Given the description of an element on the screen output the (x, y) to click on. 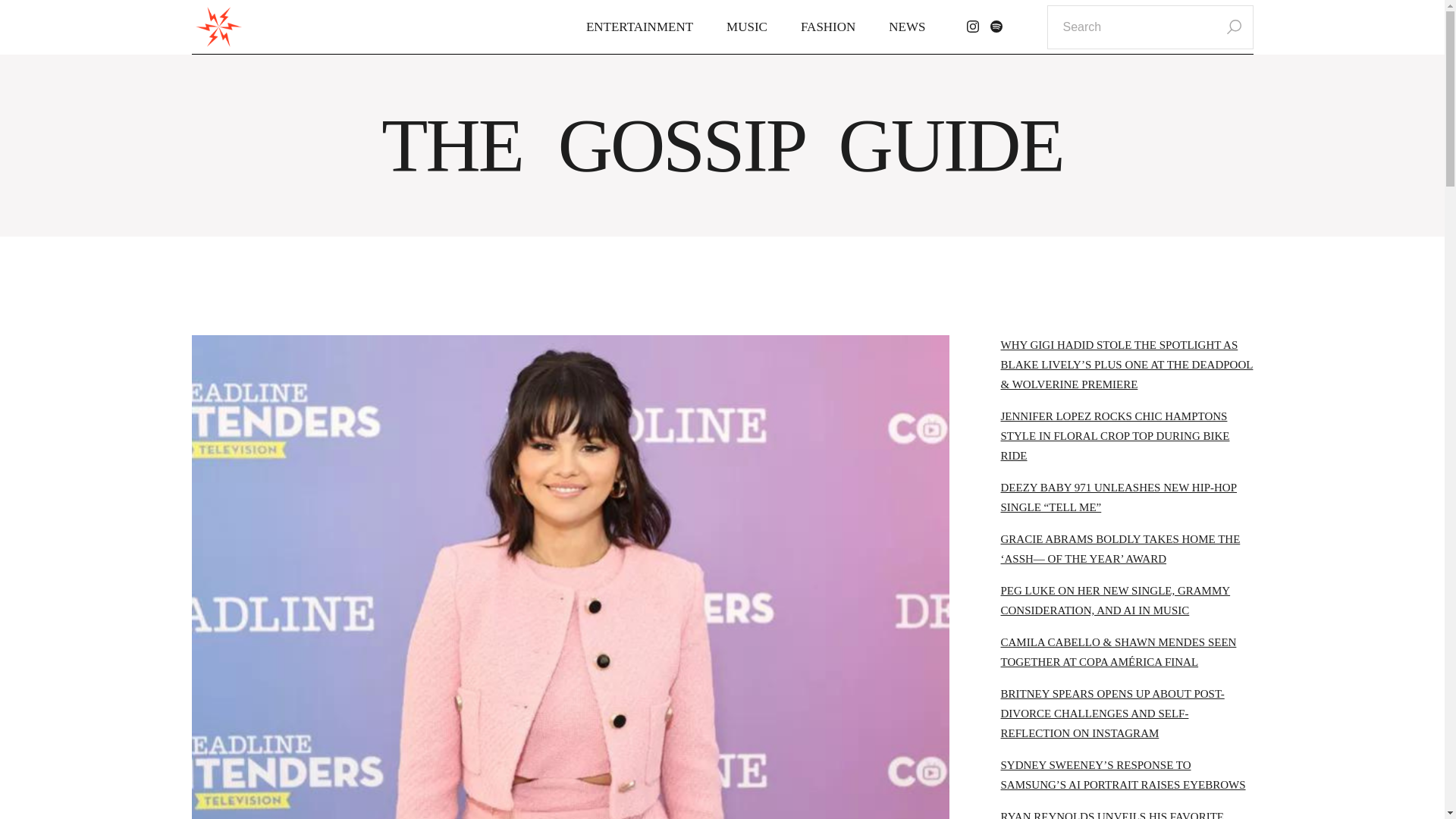
ENTERTAINMENT (639, 27)
MUSIC (746, 27)
FASHION (828, 27)
NEWS (906, 27)
